Given the description of an element on the screen output the (x, y) to click on. 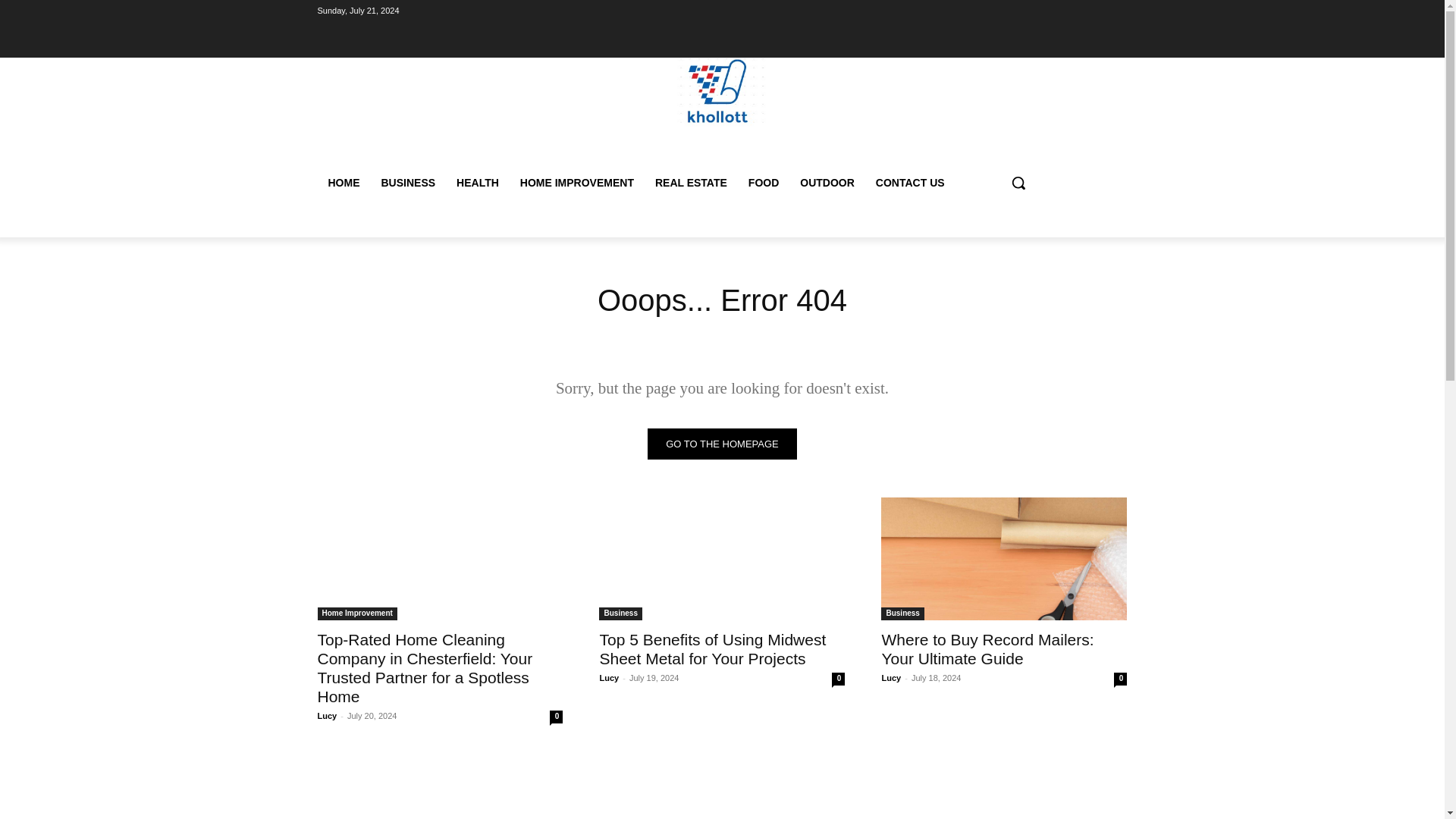
0 (837, 678)
0 (1119, 678)
Business (620, 613)
HOME IMPROVEMENT (577, 182)
Go to the homepage (721, 443)
HEALTH (477, 182)
REAL ESTATE (691, 182)
0 (556, 716)
Where to Buy Record Mailers: Your Ultimate Guide (1003, 558)
FOOD (763, 182)
